Given the description of an element on the screen output the (x, y) to click on. 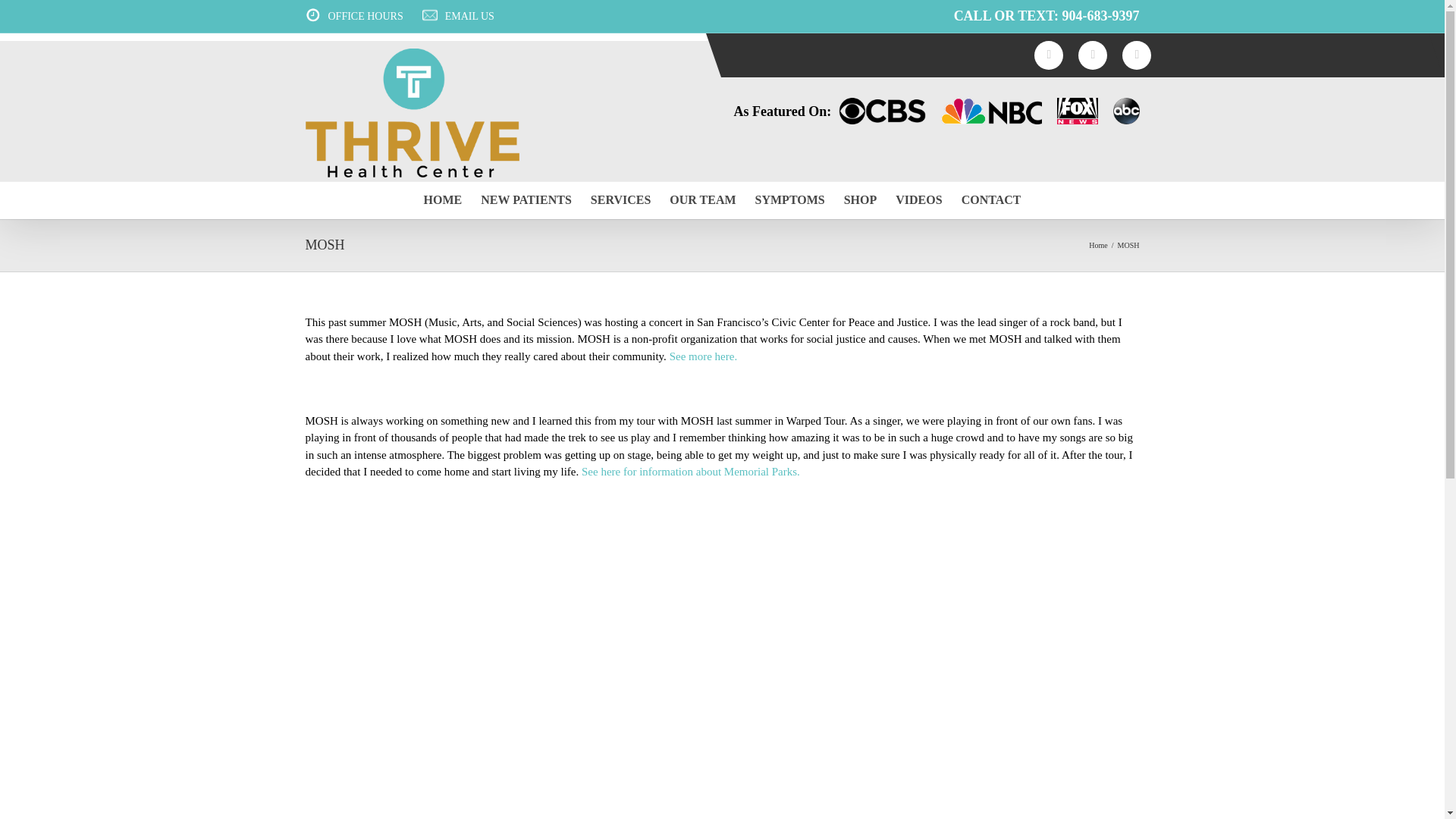
904-683-9397 (1099, 15)
YouTube (1136, 54)
SYMPTOMS (790, 199)
Instagram (1047, 54)
SERVICES (620, 199)
Facebook (1092, 54)
NEW PATIENTS (526, 199)
EMAIL US (469, 16)
OFFICE HOURS (366, 16)
HOME (443, 199)
